Given the description of an element on the screen output the (x, y) to click on. 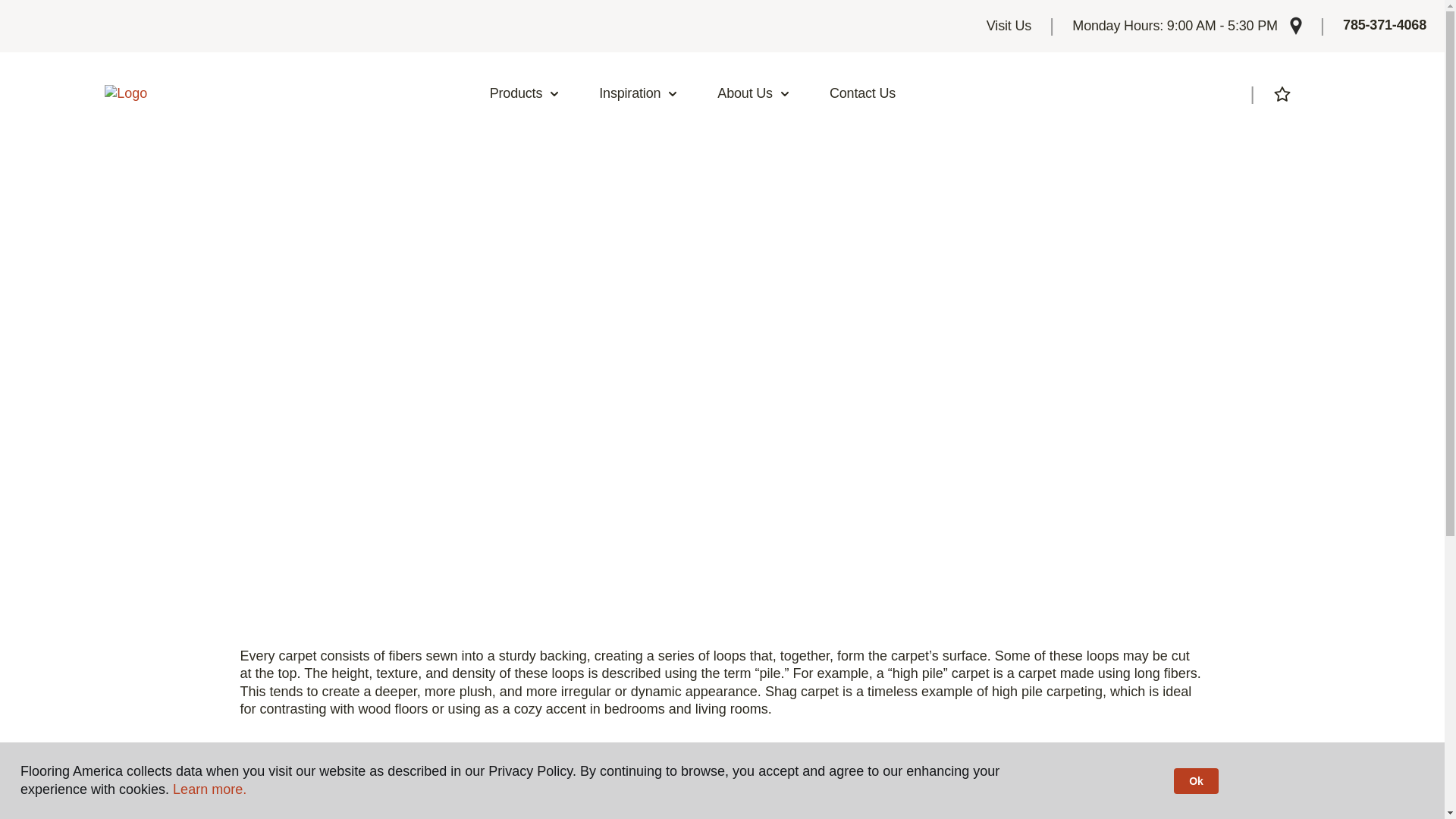
Visit Us (1008, 26)
Products (525, 94)
Inspiration (638, 94)
About Us (753, 94)
785-371-4068 (1384, 25)
Contact Us (862, 94)
